Given the description of an element on the screen output the (x, y) to click on. 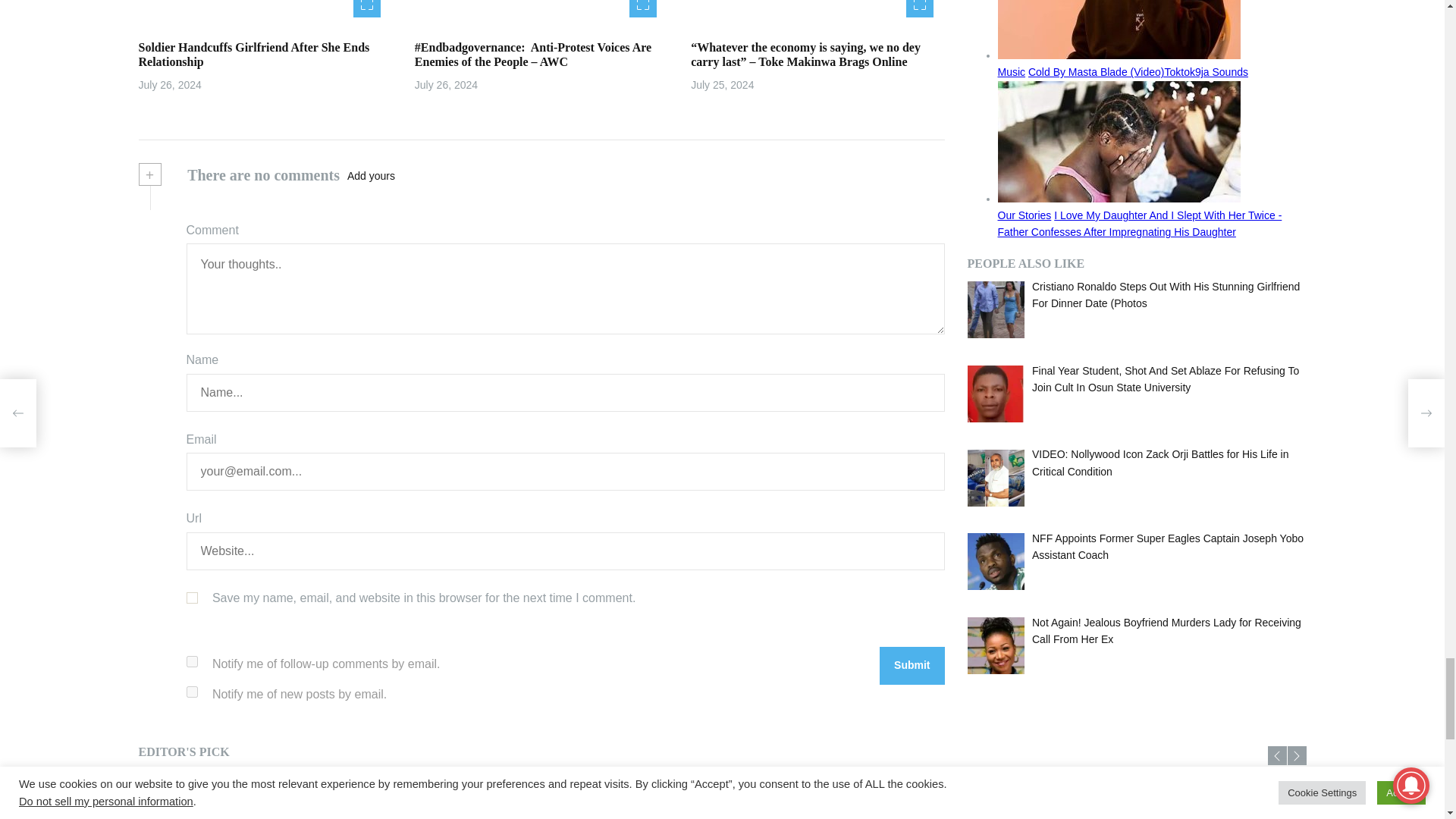
subscribe (192, 691)
Submit (911, 665)
yes (192, 597)
subscribe (192, 661)
